Given the description of an element on the screen output the (x, y) to click on. 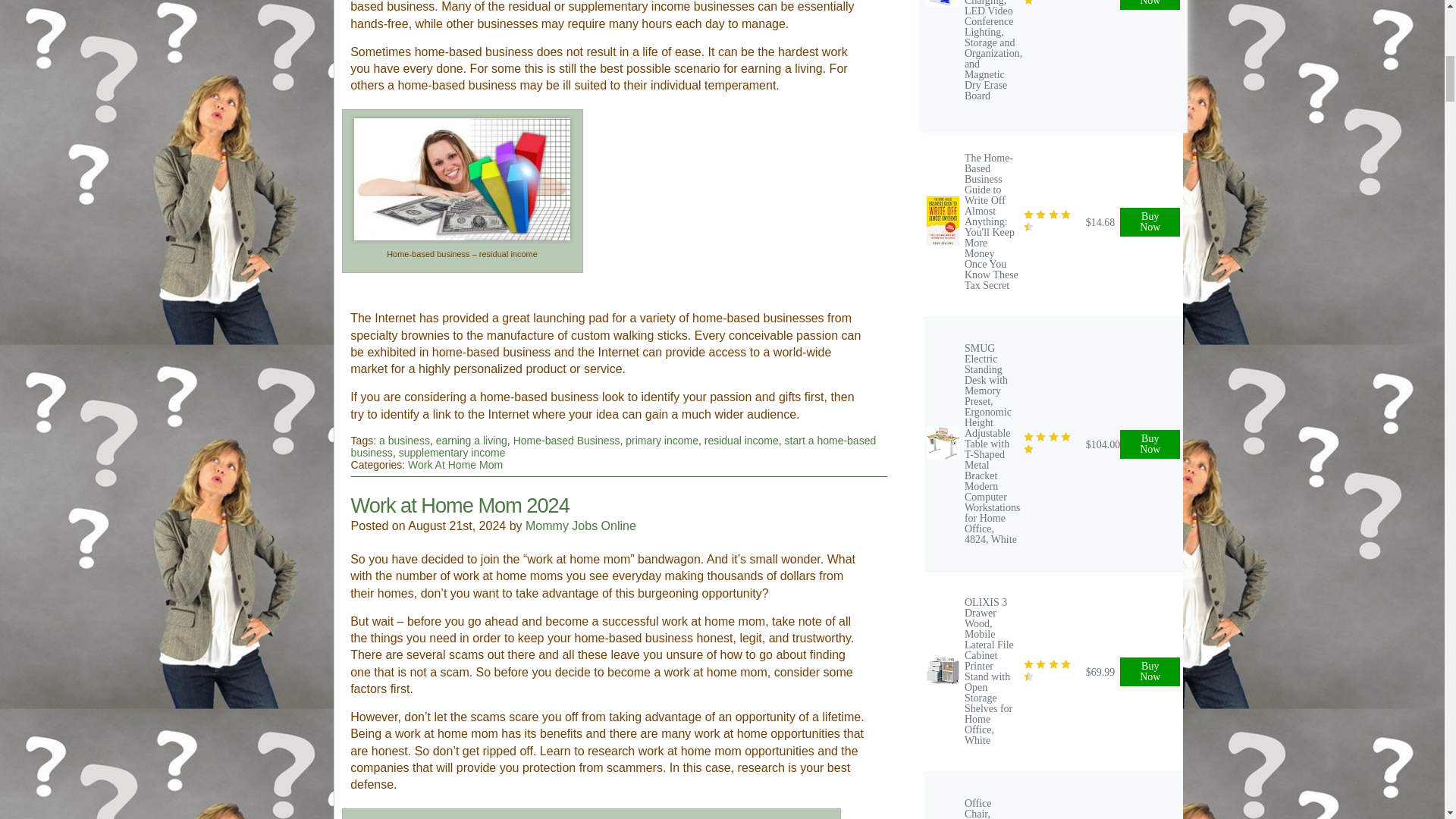
residual income (741, 440)
Work at Home Mom 2024 (459, 504)
a business (403, 440)
supplementary income (451, 452)
primary income (662, 440)
Work At Home Mom (454, 464)
Mommy Jobs Online (580, 525)
earning a living (470, 440)
start a home-based business (613, 446)
Home-based Business (566, 440)
